Given the description of an element on the screen output the (x, y) to click on. 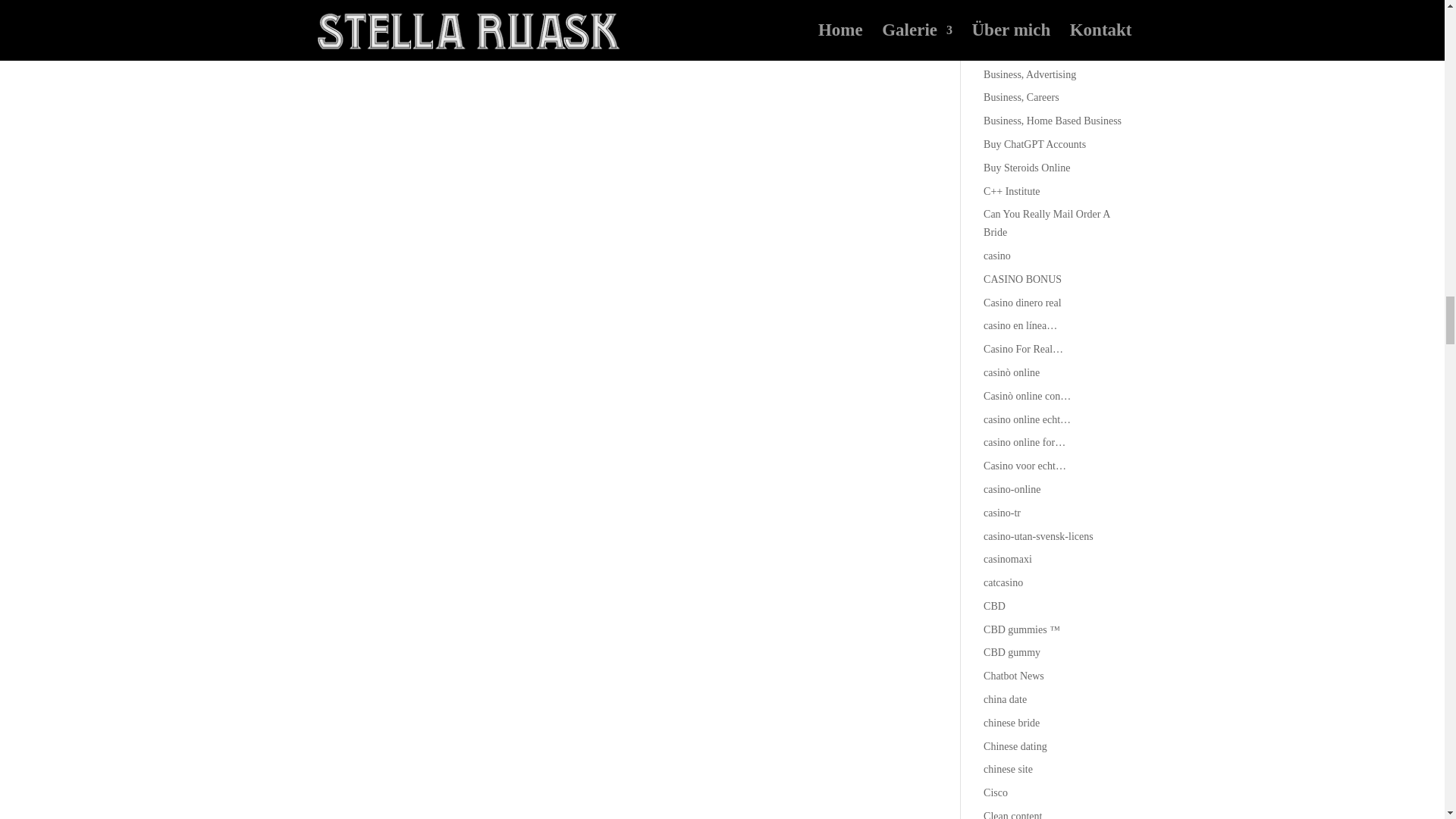
Business, Advertising (1029, 74)
Business, Home Based Business (1052, 120)
Business, Careers (1021, 97)
